Given the description of an element on the screen output the (x, y) to click on. 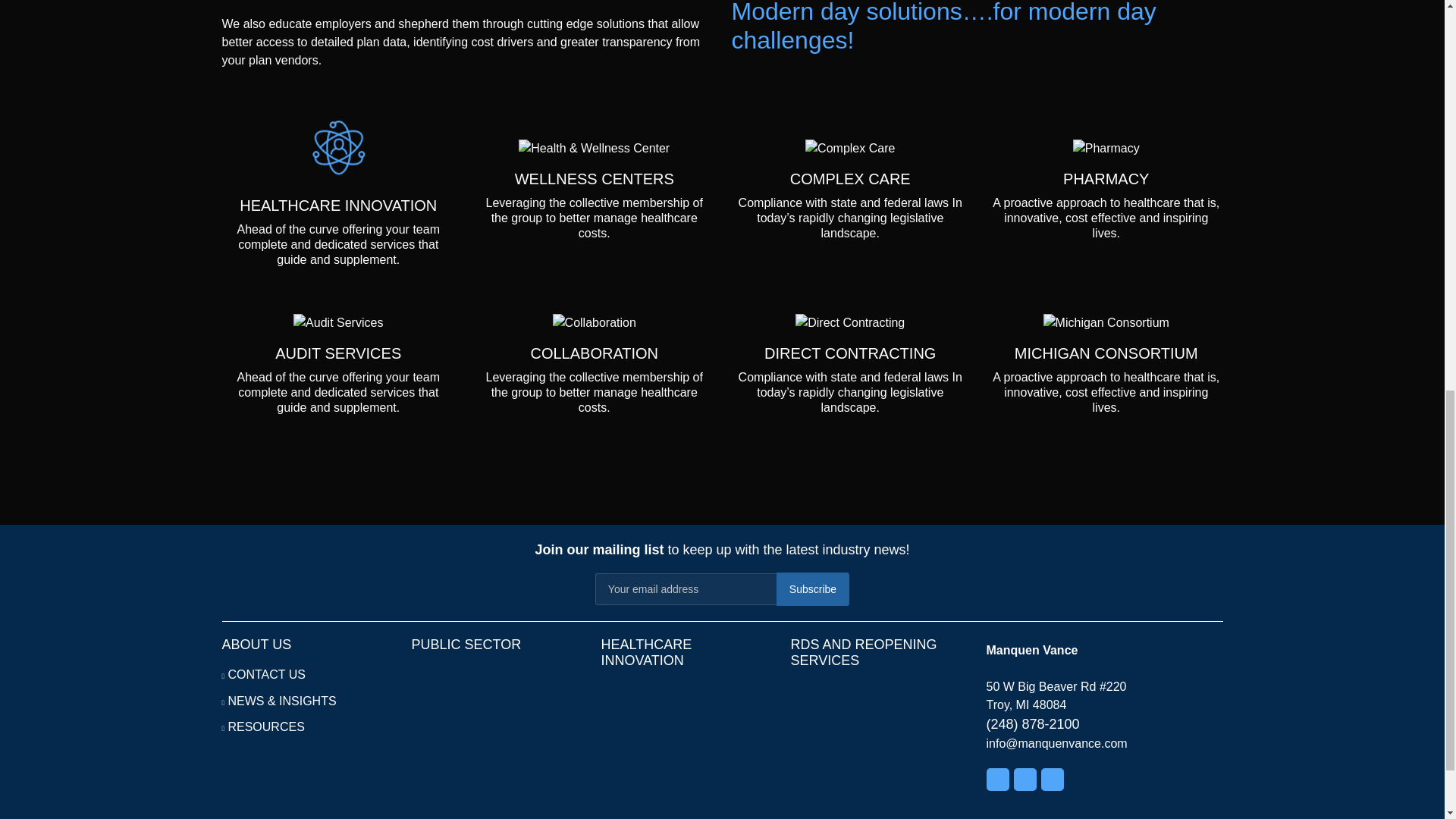
PUBLIC SECTOR (465, 644)
ABOUT US (256, 644)
RDS AND REOPENING SERVICES (863, 652)
Subscribe (812, 589)
RESOURCES (265, 726)
HEALTHCARE INNOVATION (645, 652)
Subscribe (812, 589)
CONTACT US (266, 674)
